Given the description of an element on the screen output the (x, y) to click on. 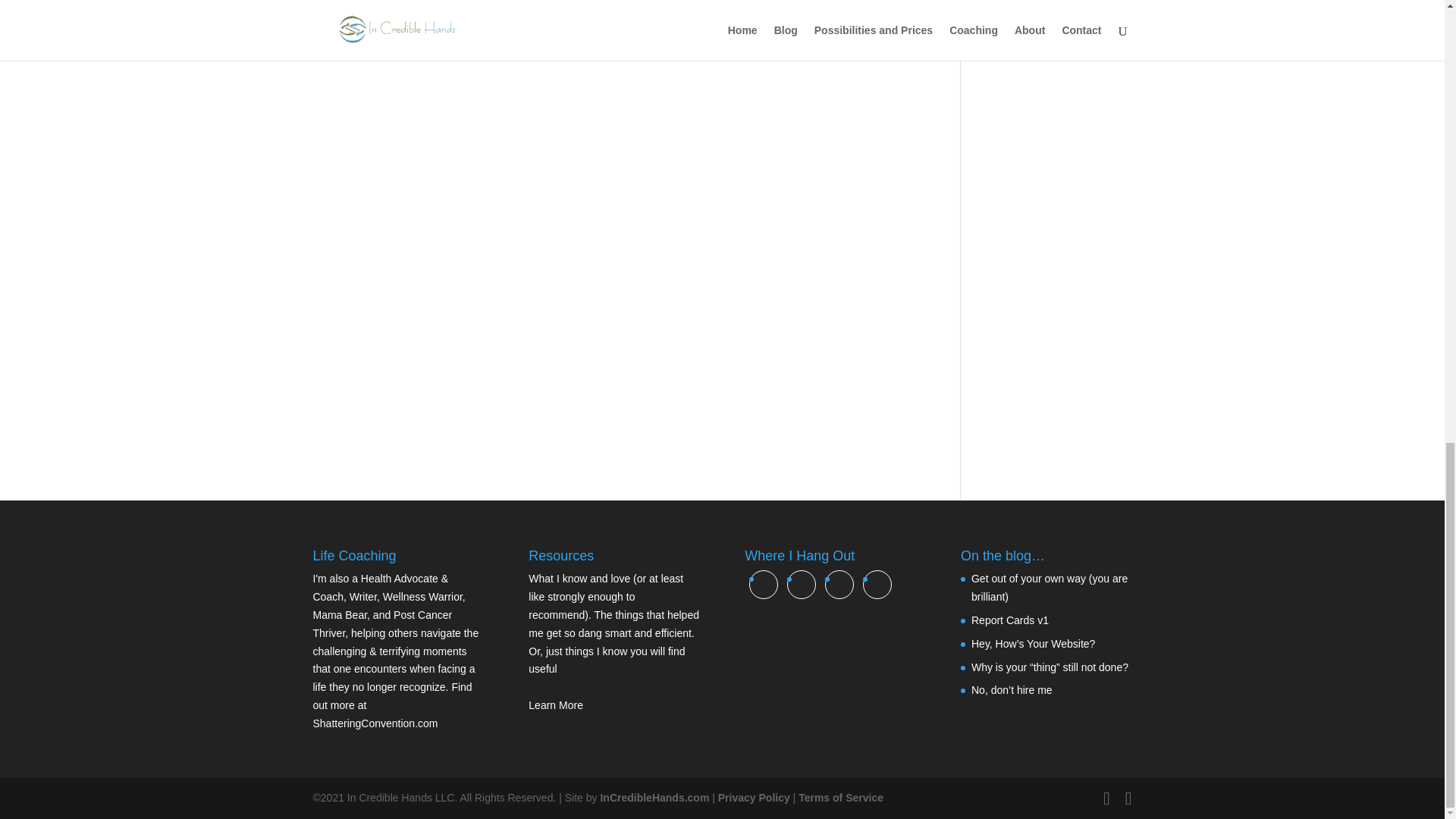
Learn More (555, 705)
Terms of Service (840, 797)
Report Cards v1 (1009, 620)
InCredibleHands.com (654, 797)
ShatteringConvention.com (375, 723)
Privacy Policy (753, 797)
